Given the description of an element on the screen output the (x, y) to click on. 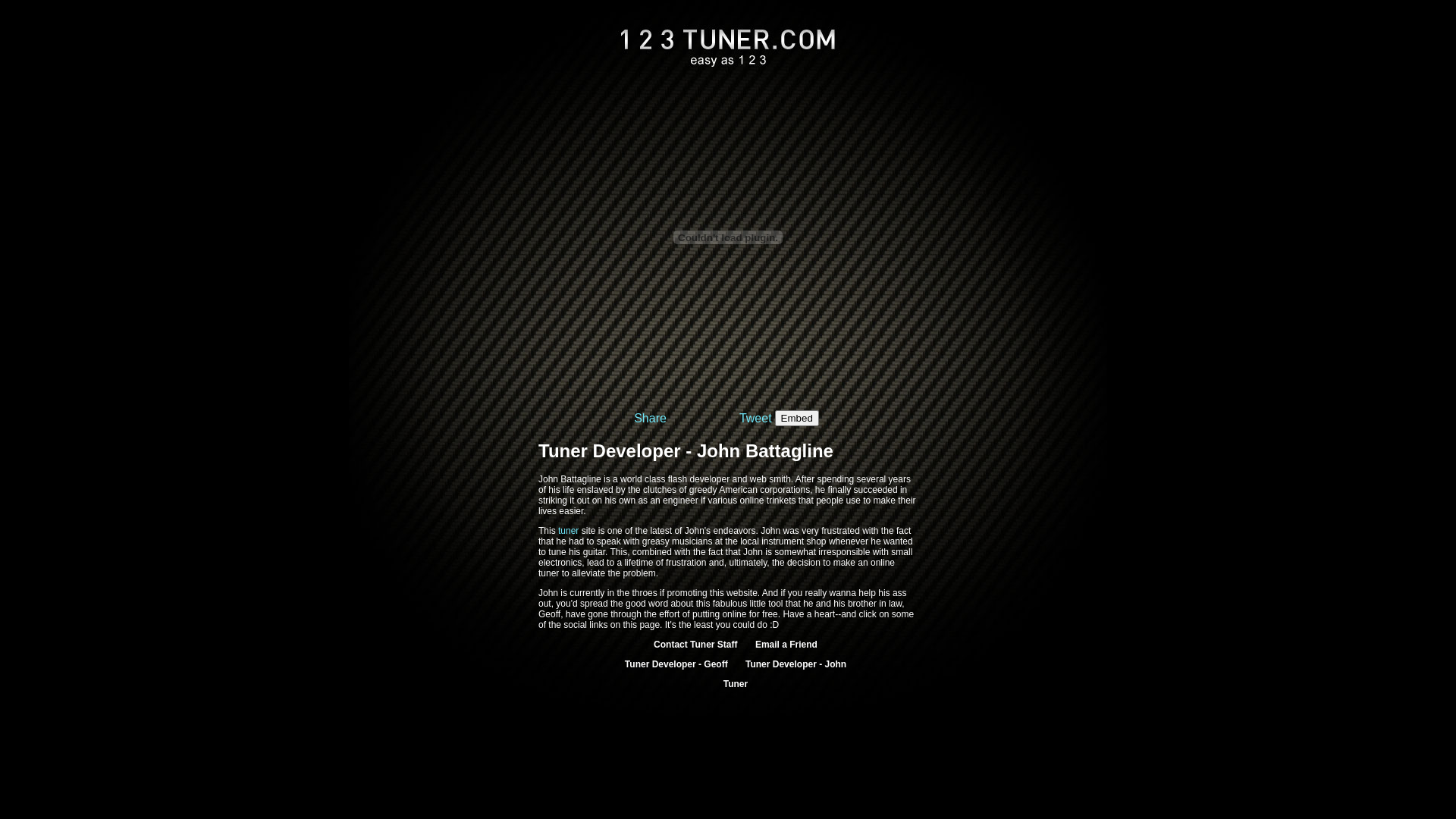
Tuner Developer - Geoff Element type: text (676, 663)
Tuner Developer - John Element type: text (795, 663)
Embed Element type: text (797, 418)
Contact Tuner Staff Element type: text (695, 644)
Tuner Element type: text (735, 683)
Share Element type: text (649, 417)
Email a Friend Element type: text (786, 644)
tuner Element type: text (568, 530)
Tweet Element type: text (755, 417)
